Given the description of an element on the screen output the (x, y) to click on. 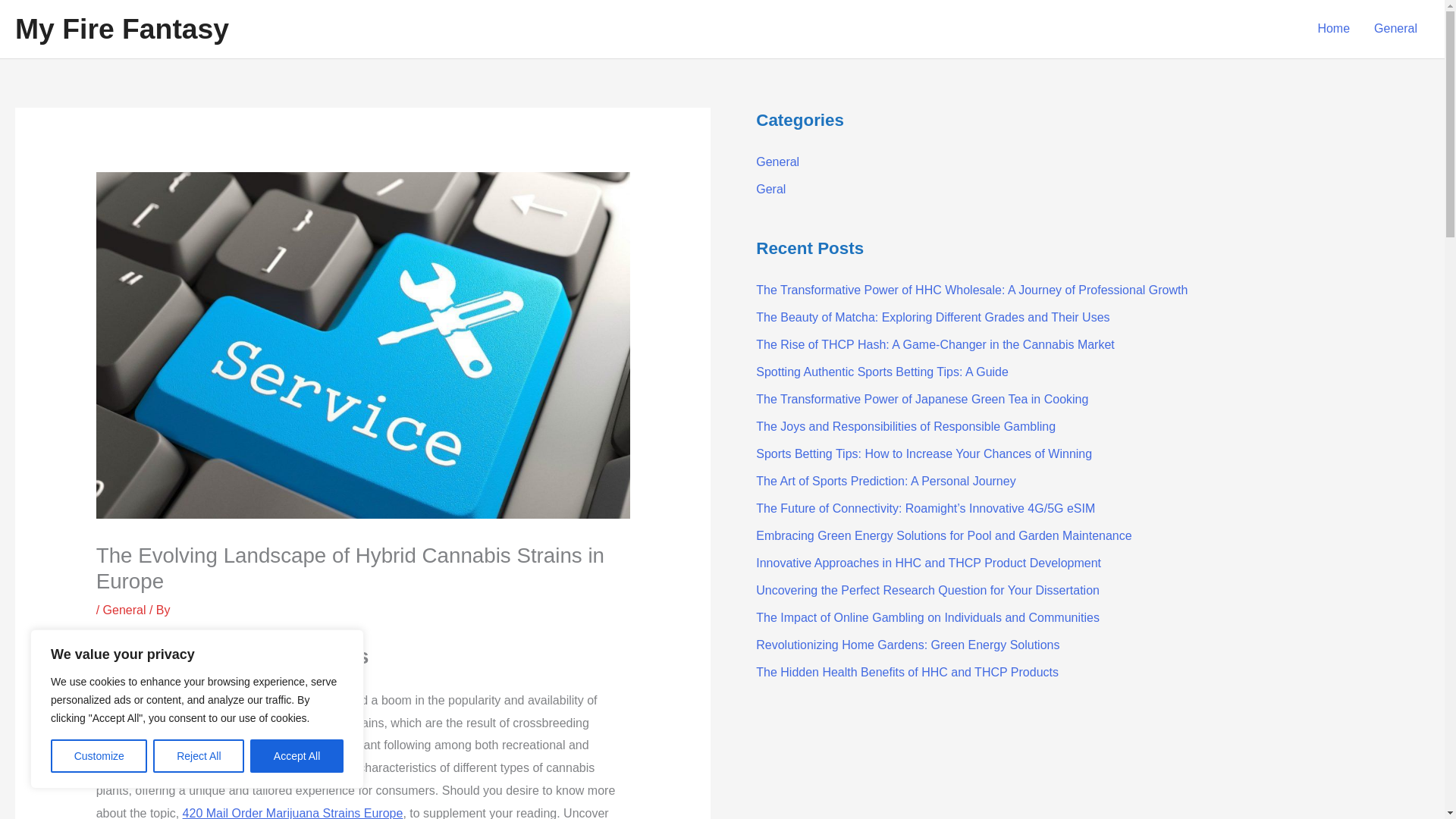
The Rise of THCP Hash: A Game-Changer in the Cannabis Market (935, 344)
Spotting Authentic Sports Betting Tips: A Guide (882, 371)
Home (1332, 28)
420 Mail Order Marijuana Strains Europe (293, 812)
Reject All (198, 756)
The Transformative Power of Japanese Green Tea in Cooking (921, 399)
General (125, 609)
Customize (98, 756)
Geral (770, 188)
Accept All (296, 756)
My Fire Fantasy (121, 29)
General (1395, 28)
General (777, 161)
